Given the description of an element on the screen output the (x, y) to click on. 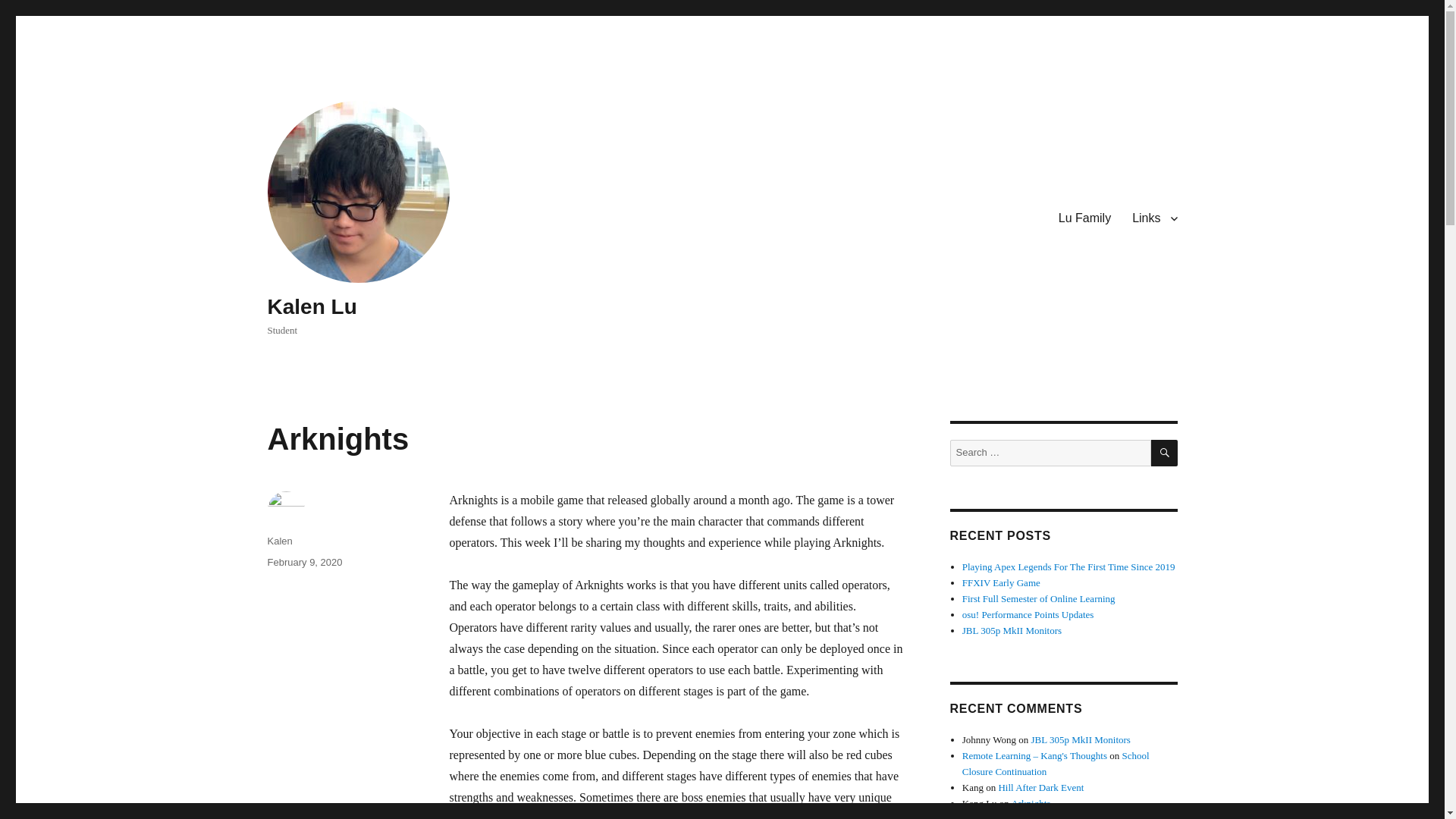
School Closure Continuation (1056, 763)
Links (1154, 218)
SEARCH (1164, 452)
Hill After Dark Event (1040, 787)
Arknights (1029, 803)
JBL 305p MkII Monitors (1080, 739)
Kalen (279, 541)
February 9, 2020 (304, 562)
Kalen Lu (311, 306)
Playing Apex Legends For The First Time Since 2019 (1068, 566)
osu! Performance Points Updates (1028, 614)
Nature Music Update (1048, 816)
JBL 305p MkII Monitors (1011, 630)
Lu Family (1084, 218)
FFXIV Early Game (1001, 582)
